Given the description of an element on the screen output the (x, y) to click on. 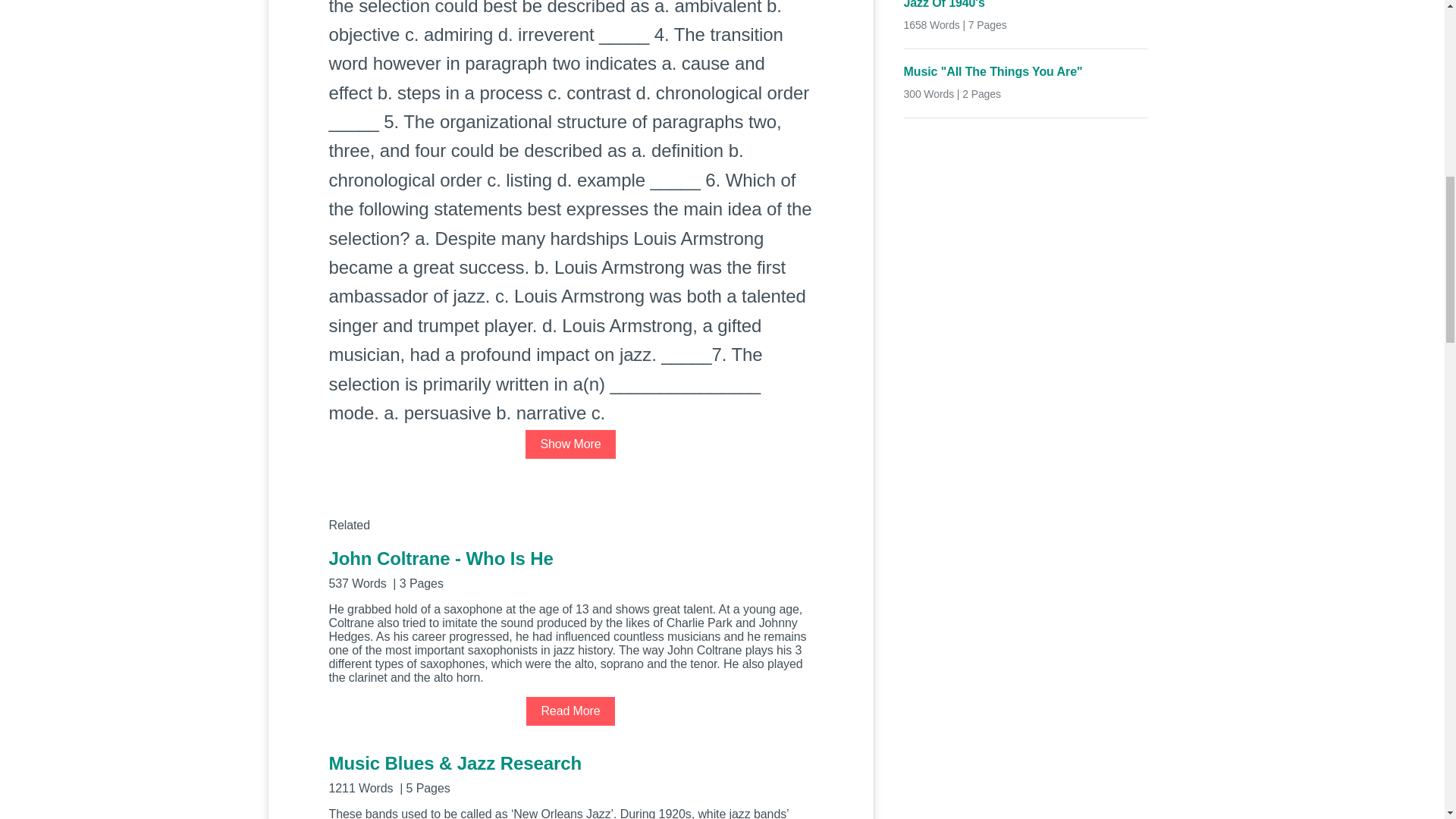
Jazz Of 1940's (1026, 6)
Read More (569, 710)
Show More (569, 443)
Music "All The Things You Are" (1026, 71)
John Coltrane - Who Is He (570, 568)
